Given the description of an element on the screen output the (x, y) to click on. 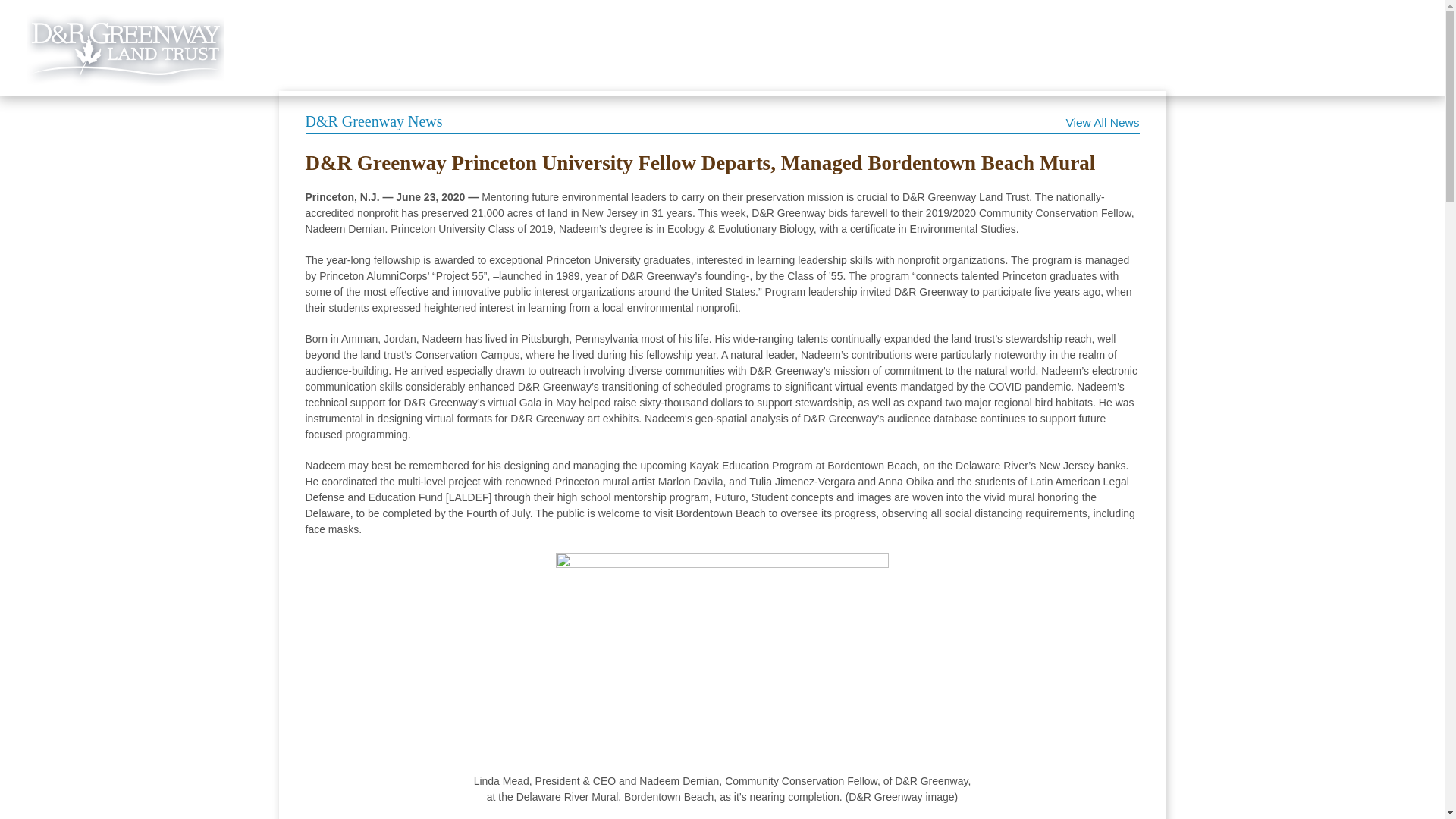
Preservation Stories (416, 58)
Our Campus (654, 58)
Explore Preserves (545, 58)
